Given the description of an element on the screen output the (x, y) to click on. 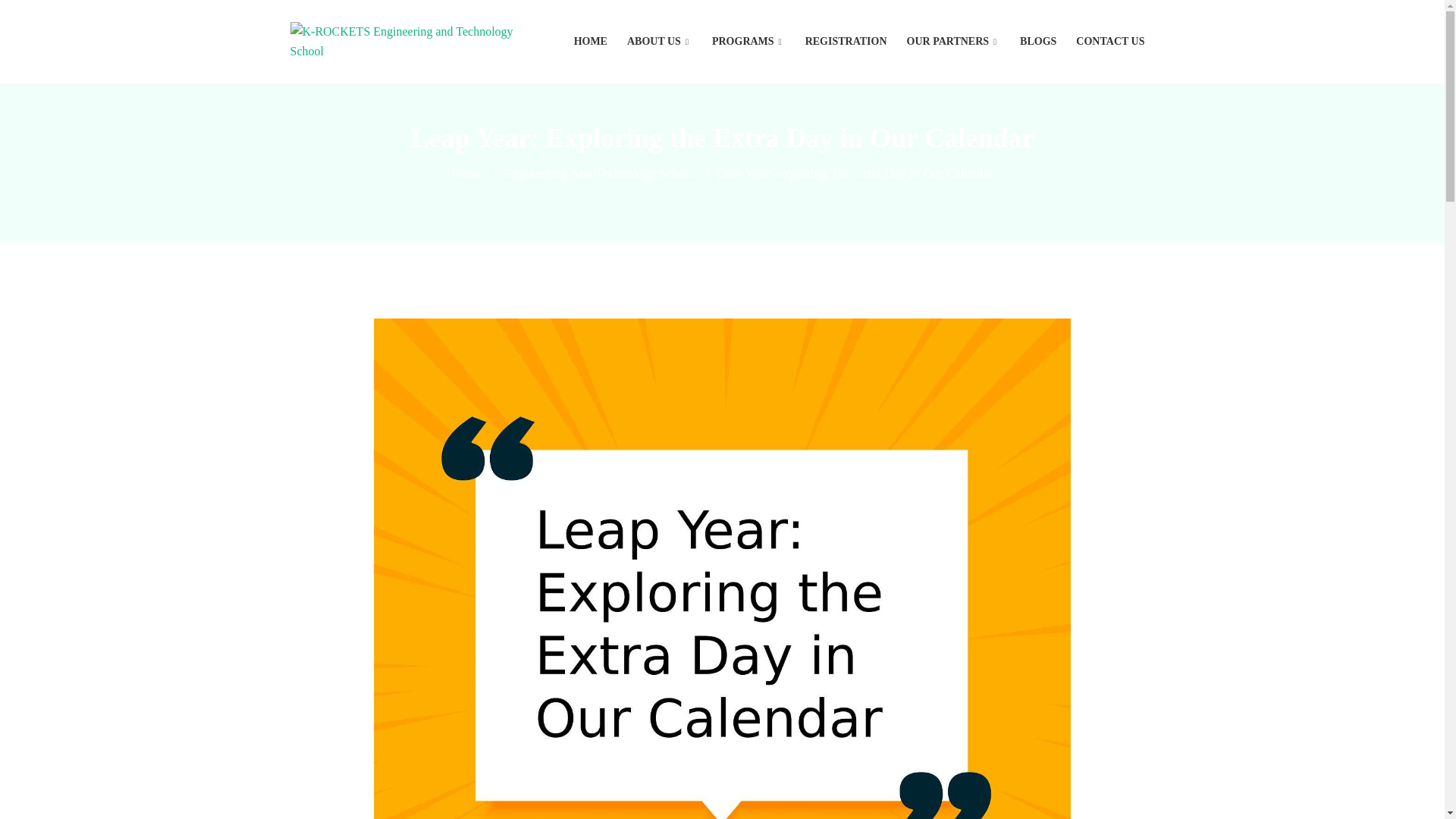
Home (467, 173)
OUR PARTNERS (954, 41)
REGISTRATION (845, 41)
